Given the description of an element on the screen output the (x, y) to click on. 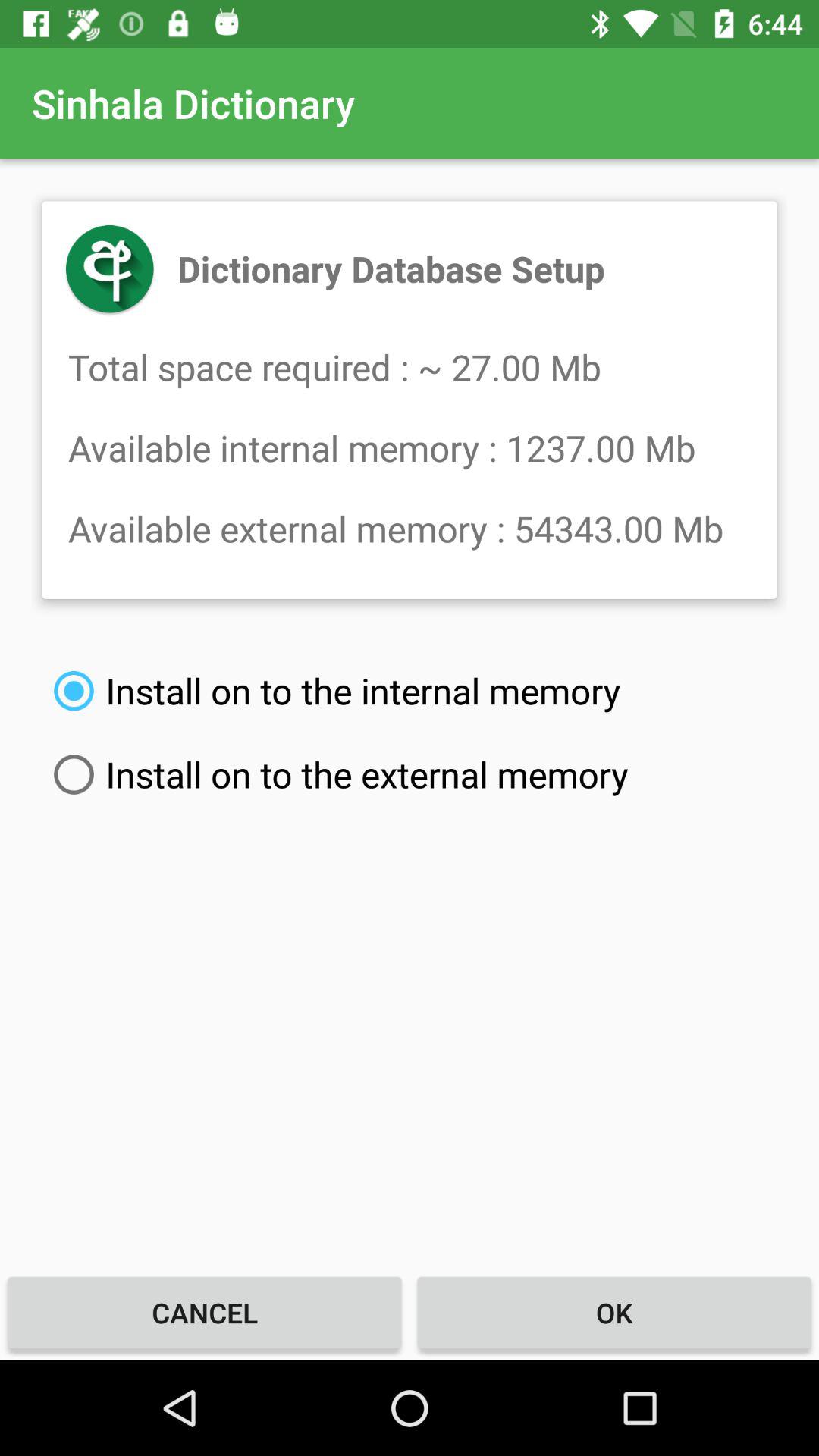
jump to the ok (614, 1312)
